Given the description of an element on the screen output the (x, y) to click on. 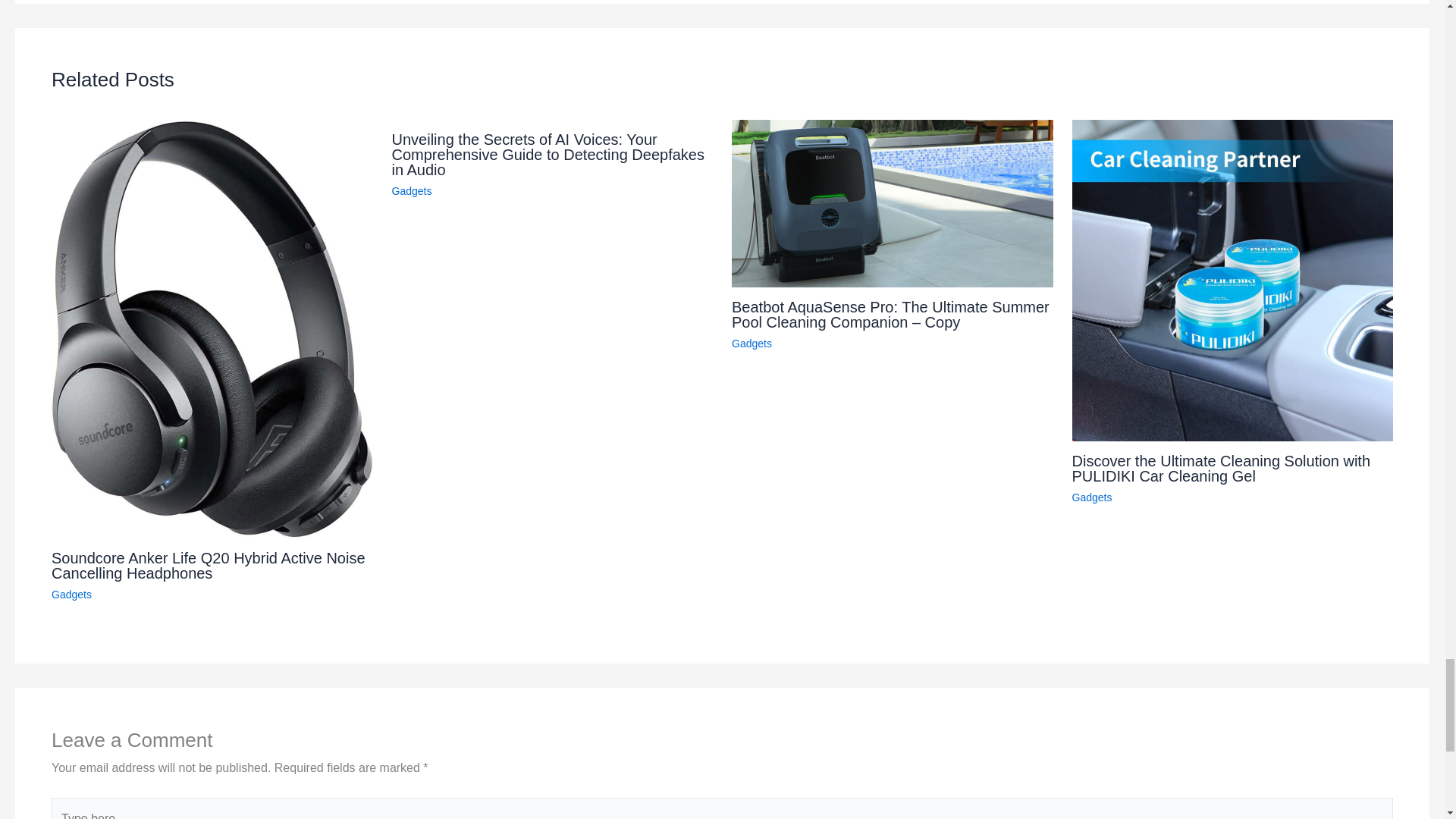
Gadgets (410, 191)
Gadgets (1091, 497)
Gadgets (751, 343)
Gadgets (70, 594)
